Given the description of an element on the screen output the (x, y) to click on. 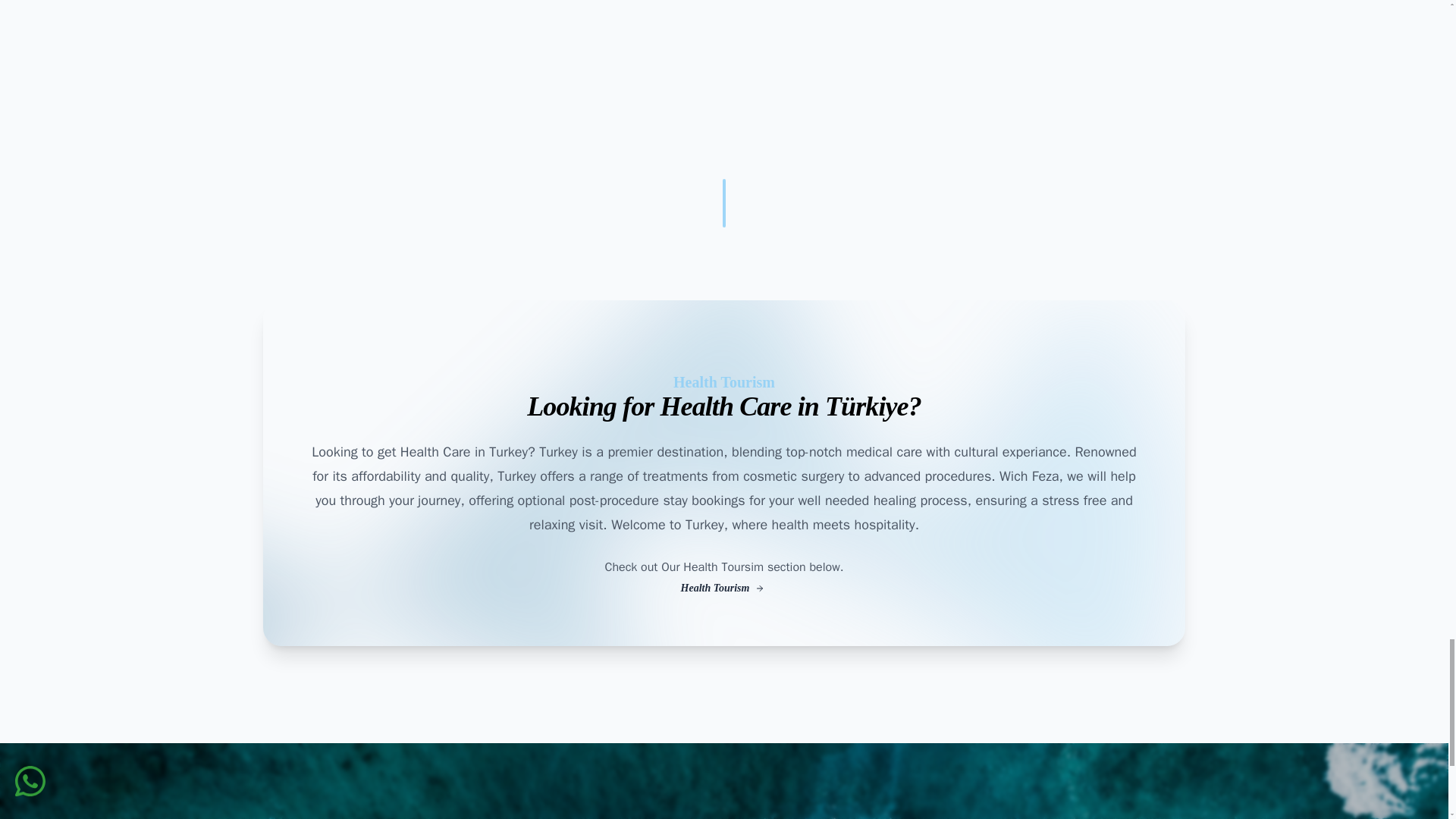
Health Tourism (724, 588)
